Given the description of an element on the screen output the (x, y) to click on. 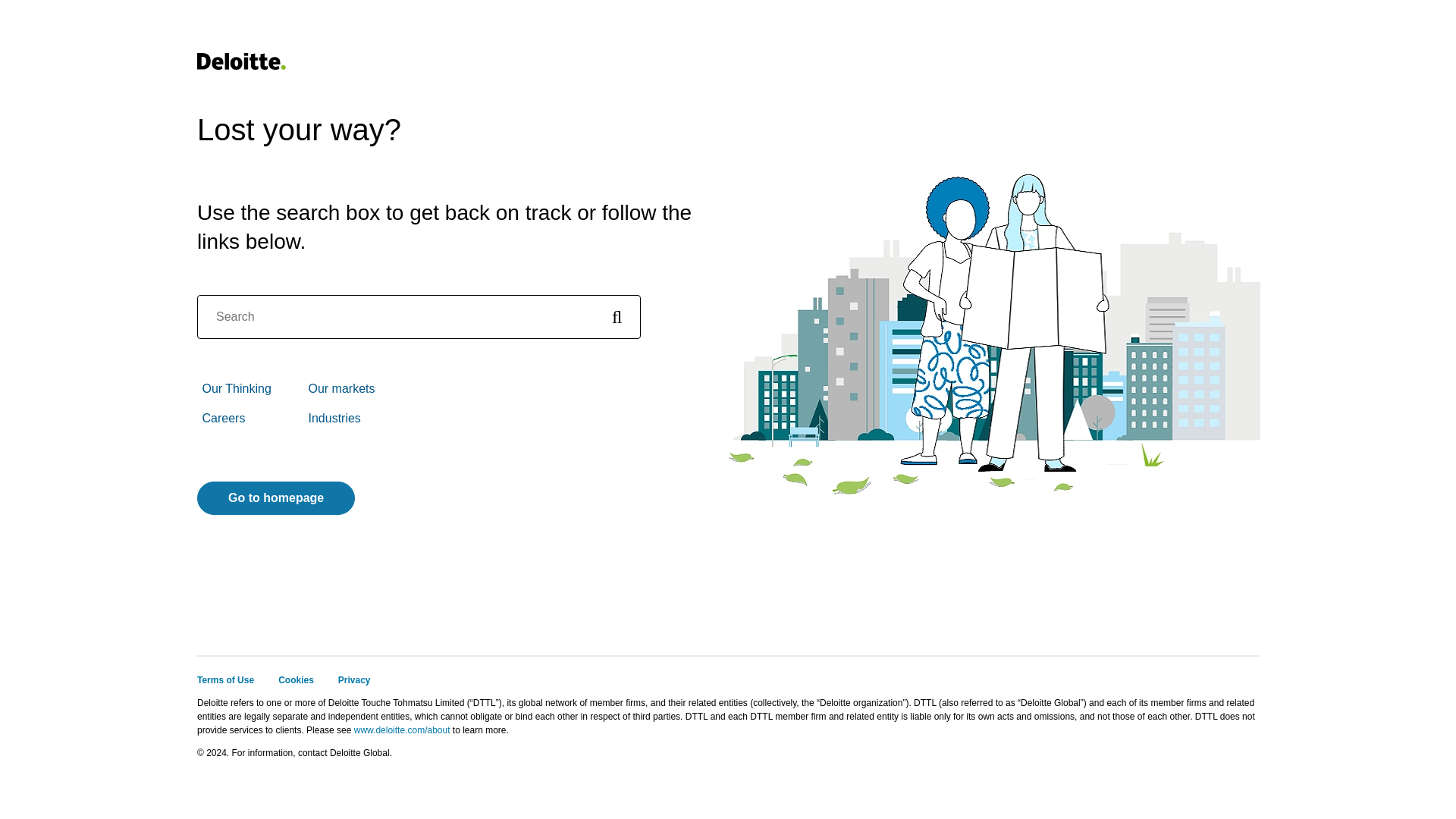
Privacy (354, 679)
Our Thinking (236, 388)
Go to homepage (275, 498)
Industries (333, 418)
Our markets (340, 388)
Careers (223, 418)
Cookies (296, 679)
Terms of Use (224, 679)
